Given the description of an element on the screen output the (x, y) to click on. 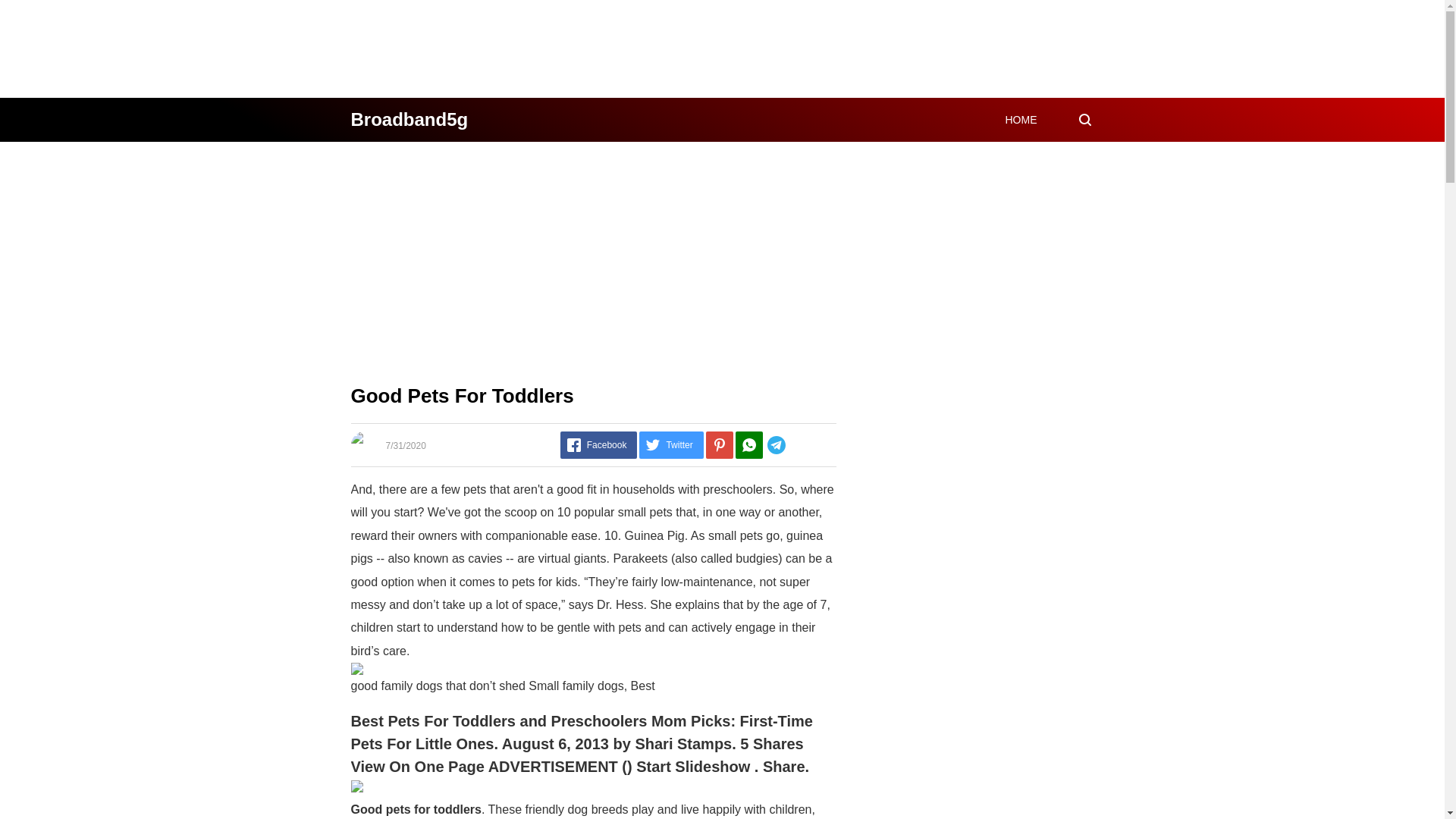
Share on Pinterest (719, 444)
Telegram (798, 444)
Share to Telegram (798, 444)
Twitter (671, 444)
HOME (1021, 119)
Facebook (598, 444)
Broadband5g (408, 118)
